Given the description of an element on the screen output the (x, y) to click on. 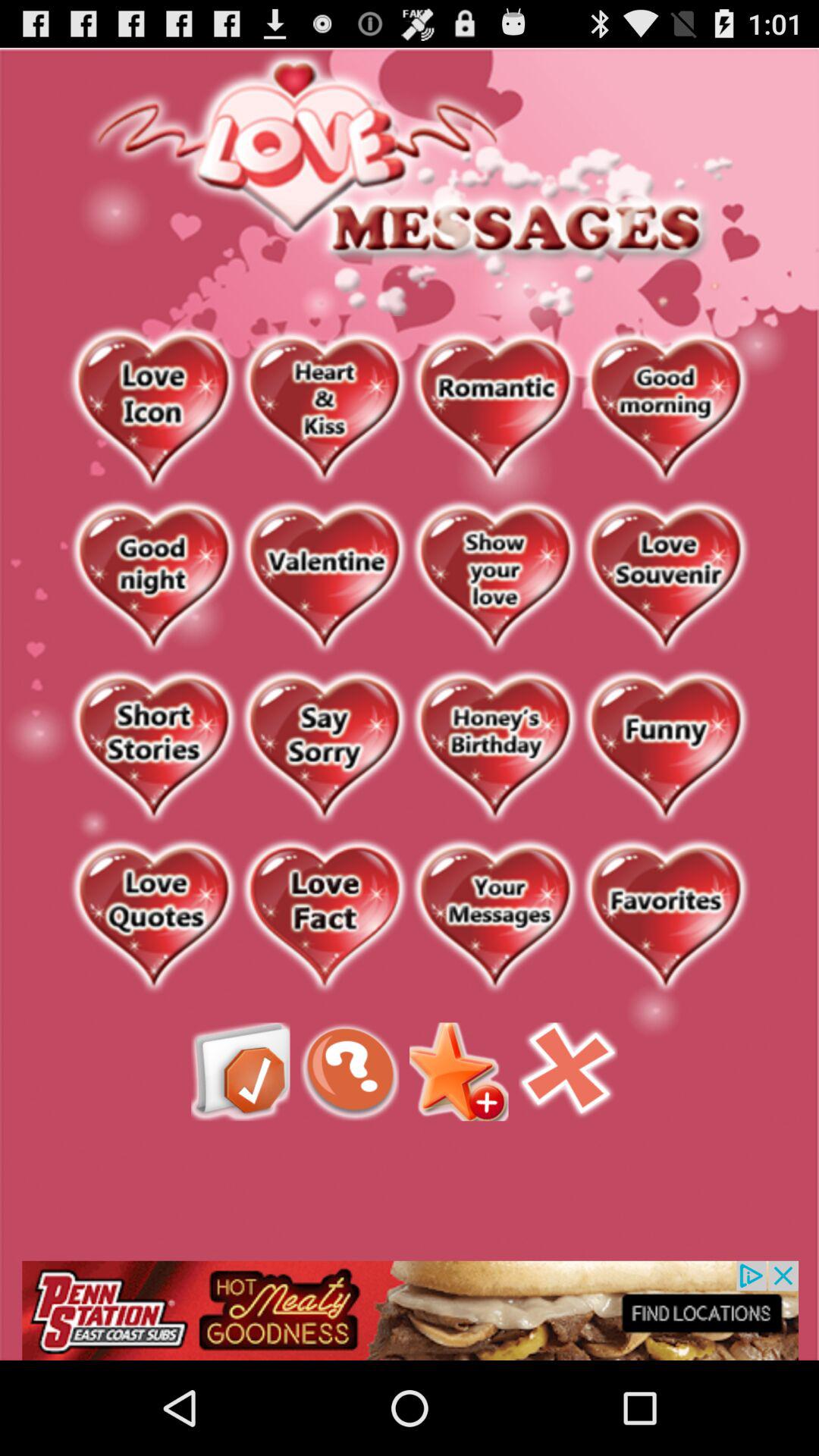
say sorry (323, 747)
